Given the description of an element on the screen output the (x, y) to click on. 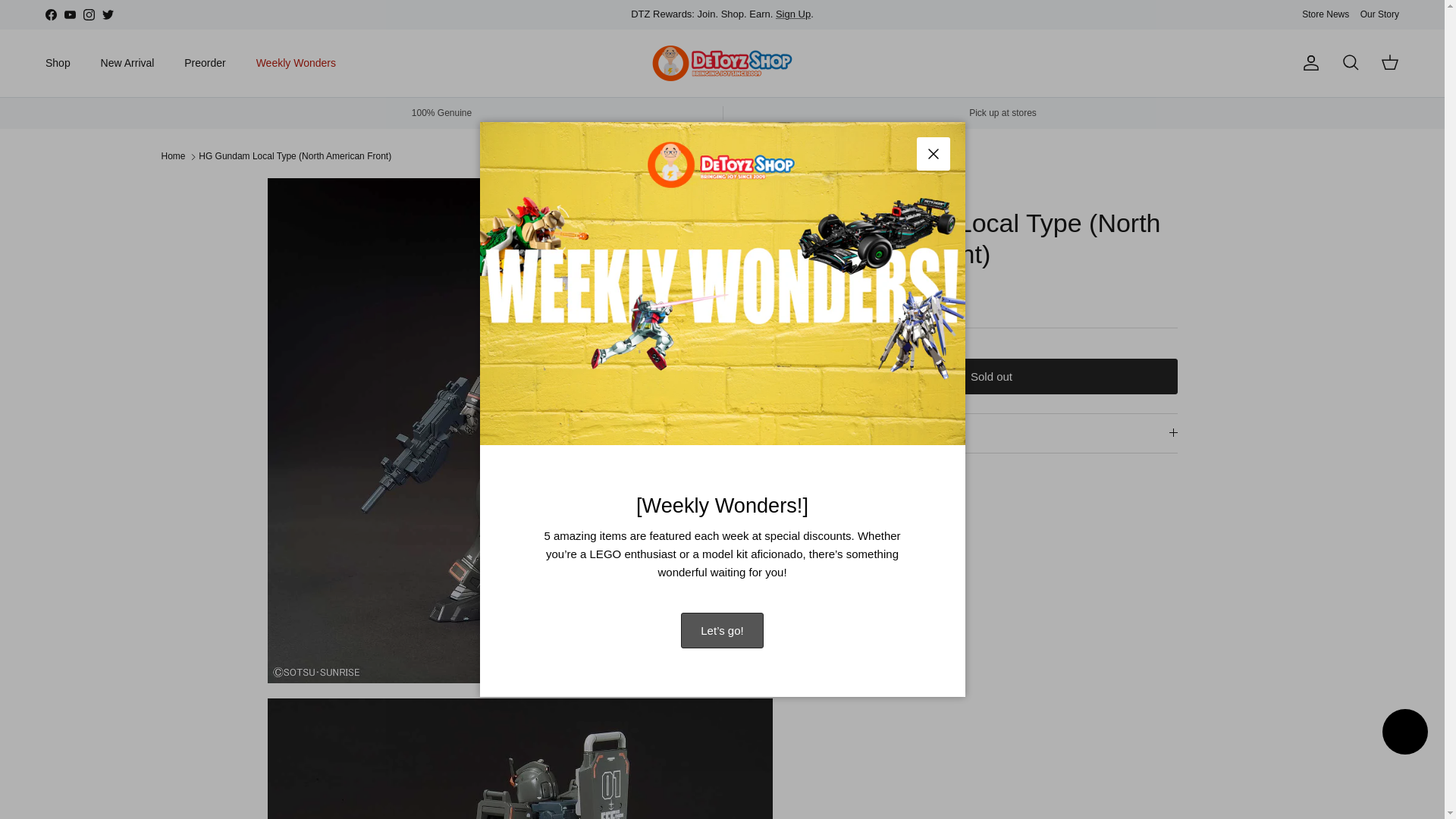
Account Sign in (793, 13)
Store News (1325, 13)
Sign Up (793, 13)
Pin on Pinterest (881, 498)
Weekly Wonders (296, 62)
New Arrival (127, 62)
Instagram (88, 14)
YouTube (69, 14)
Shopify online store chat (1404, 733)
De Toyz Shop on Facebook (50, 14)
De Toyz Shop on YouTube (69, 14)
De Toyz Shop on Instagram (88, 14)
Facebook (50, 14)
De Toyz Shop on Twitter (107, 14)
Share on Facebook (862, 498)
